Given the description of an element on the screen output the (x, y) to click on. 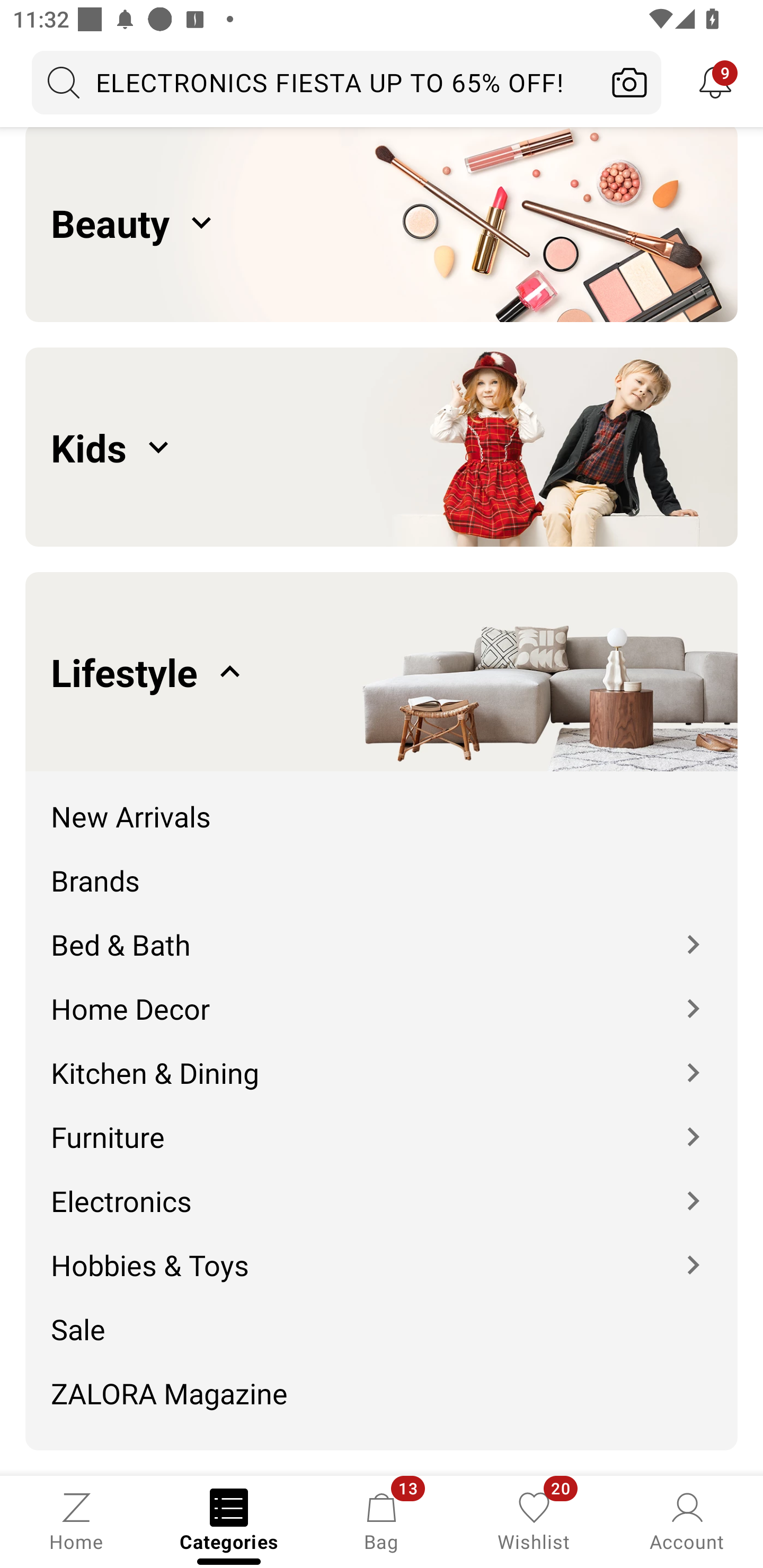
ELECTRONICS FIESTA UP TO 65% OFF! (314, 82)
Beauty (381, 224)
Kids (381, 447)
Lifestyle (381, 671)
New Arrivals (381, 803)
Brands (381, 867)
Bed & Bath (381, 932)
Home Decor (381, 995)
Kitchen & Dining (381, 1059)
Furniture (381, 1123)
Electronics (381, 1187)
Hobbies & Toys (381, 1251)
Sale (381, 1316)
ZALORA Magazine (381, 1399)
Home (76, 1519)
Bag, 13 new notifications Bag (381, 1519)
Wishlist, 20 new notifications Wishlist (533, 1519)
Account (686, 1519)
